Given the description of an element on the screen output the (x, y) to click on. 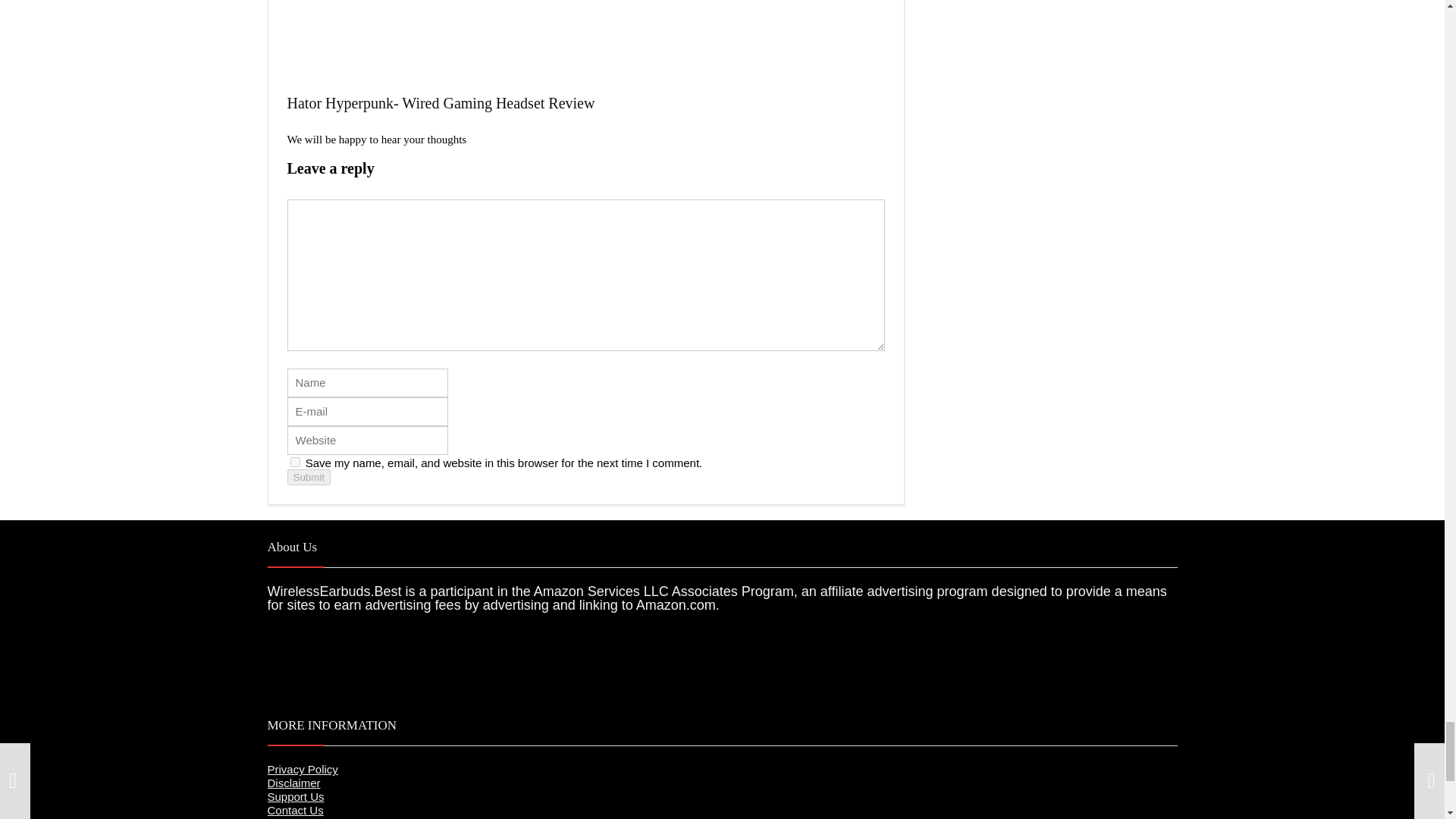
Hator Hyperpunk- Wired Gaming Headset Review (440, 103)
Submit (308, 477)
Submit (308, 477)
Privacy Policy (301, 768)
yes (294, 461)
